Given the description of an element on the screen output the (x, y) to click on. 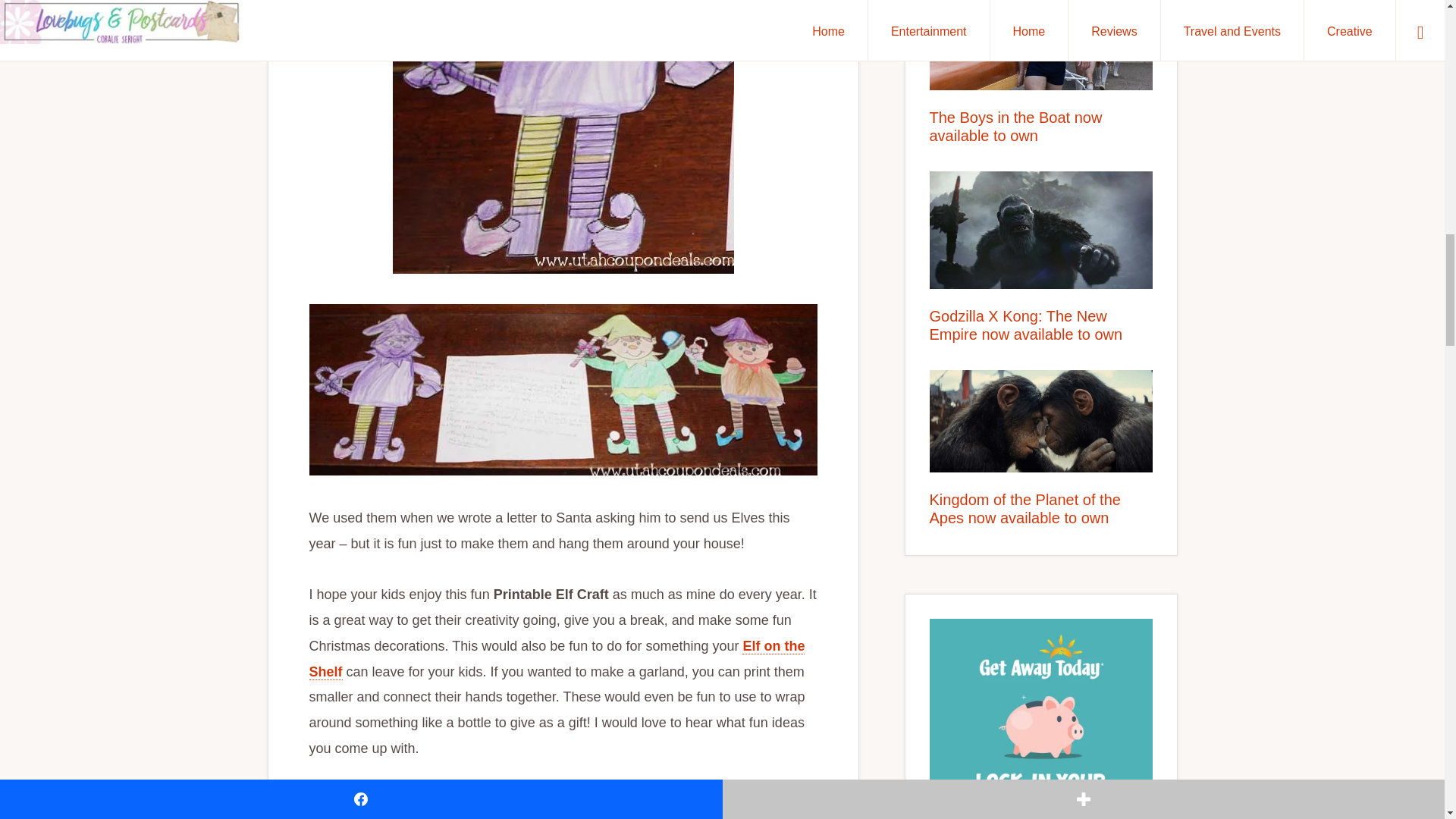
Printable Elf Craft  (562, 803)
Printable Elf Craft  (563, 136)
Elf on the Shelf (556, 659)
Printable Elf Craft  (562, 389)
